Given the description of an element on the screen output the (x, y) to click on. 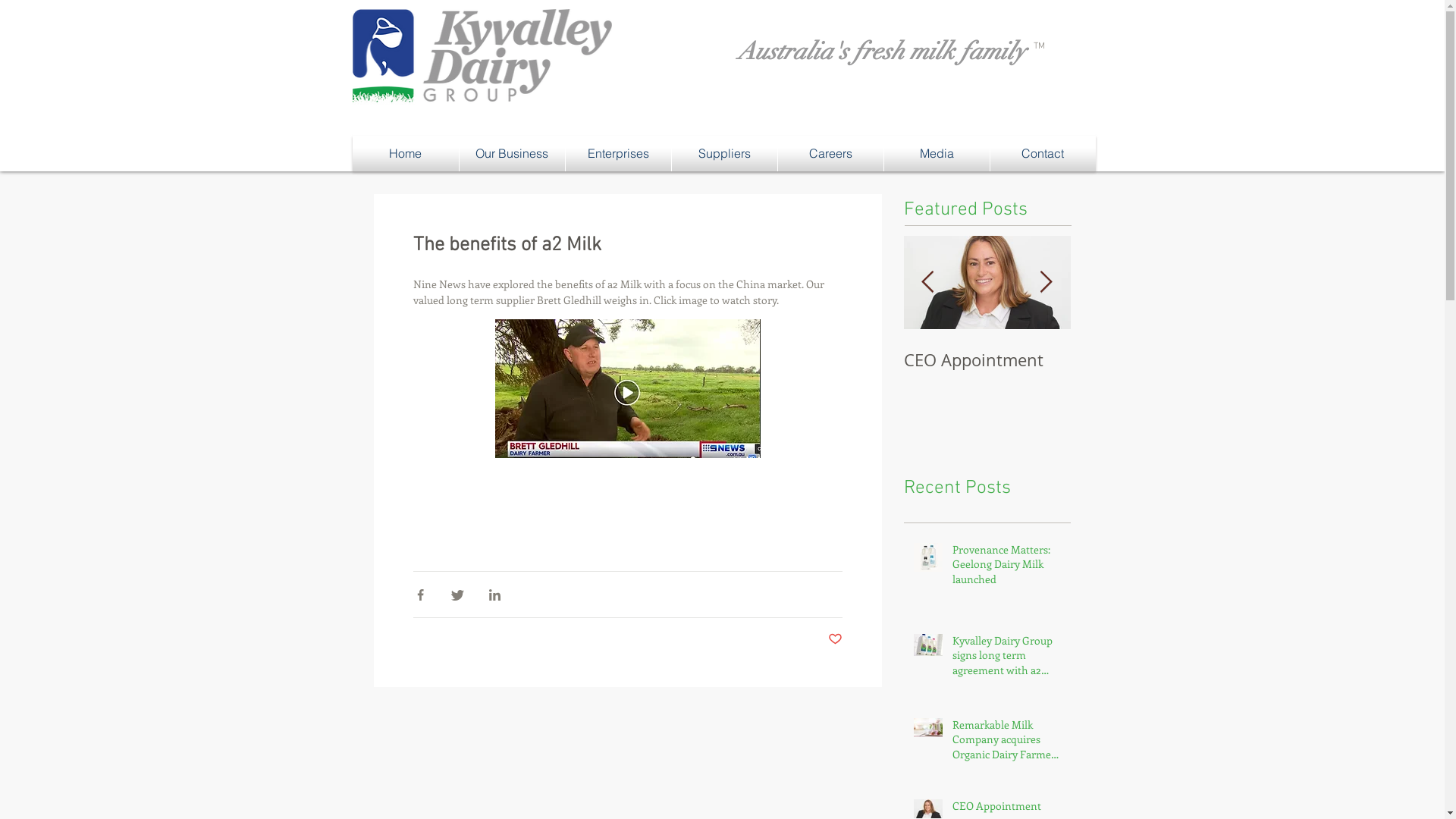
Contact Element type: text (1042, 153)
CEO Appointment Element type: text (1153, 359)
Home Element type: text (404, 153)
Australia's fresh milk family  Element type: text (883, 52)
Careers Element type: text (830, 153)
Media Element type: text (936, 153)
Post not marked as liked Element type: text (835, 639)
Provenance Matters: Geelong Dairy Milk launched Element type: text (1006, 567)
